Given the description of an element on the screen output the (x, y) to click on. 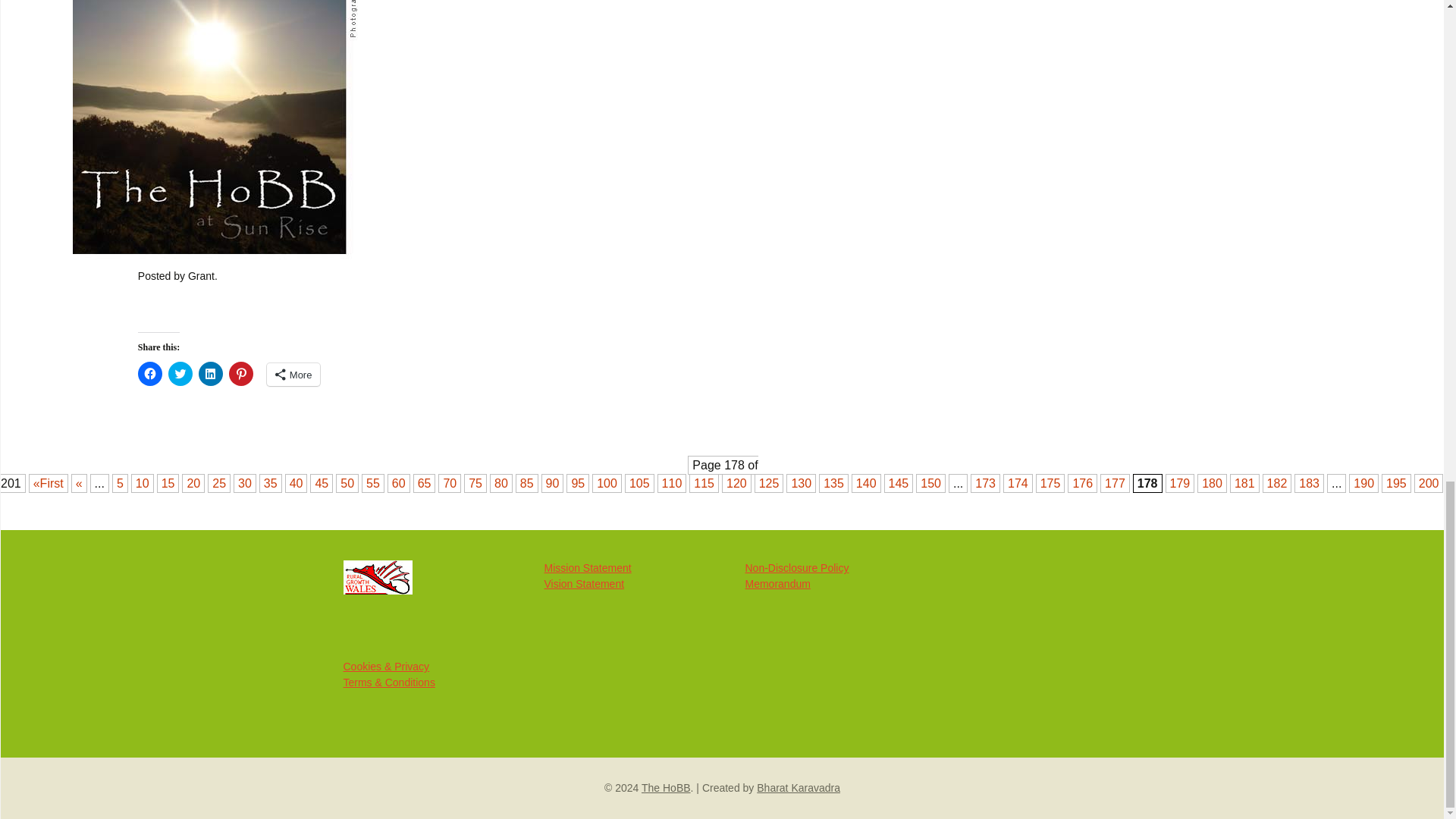
Click to share on Pinterest (240, 373)
Click to share on LinkedIn (210, 373)
Click to share on Twitter (180, 373)
Click to share on Facebook (149, 373)
